Given the description of an element on the screen output the (x, y) to click on. 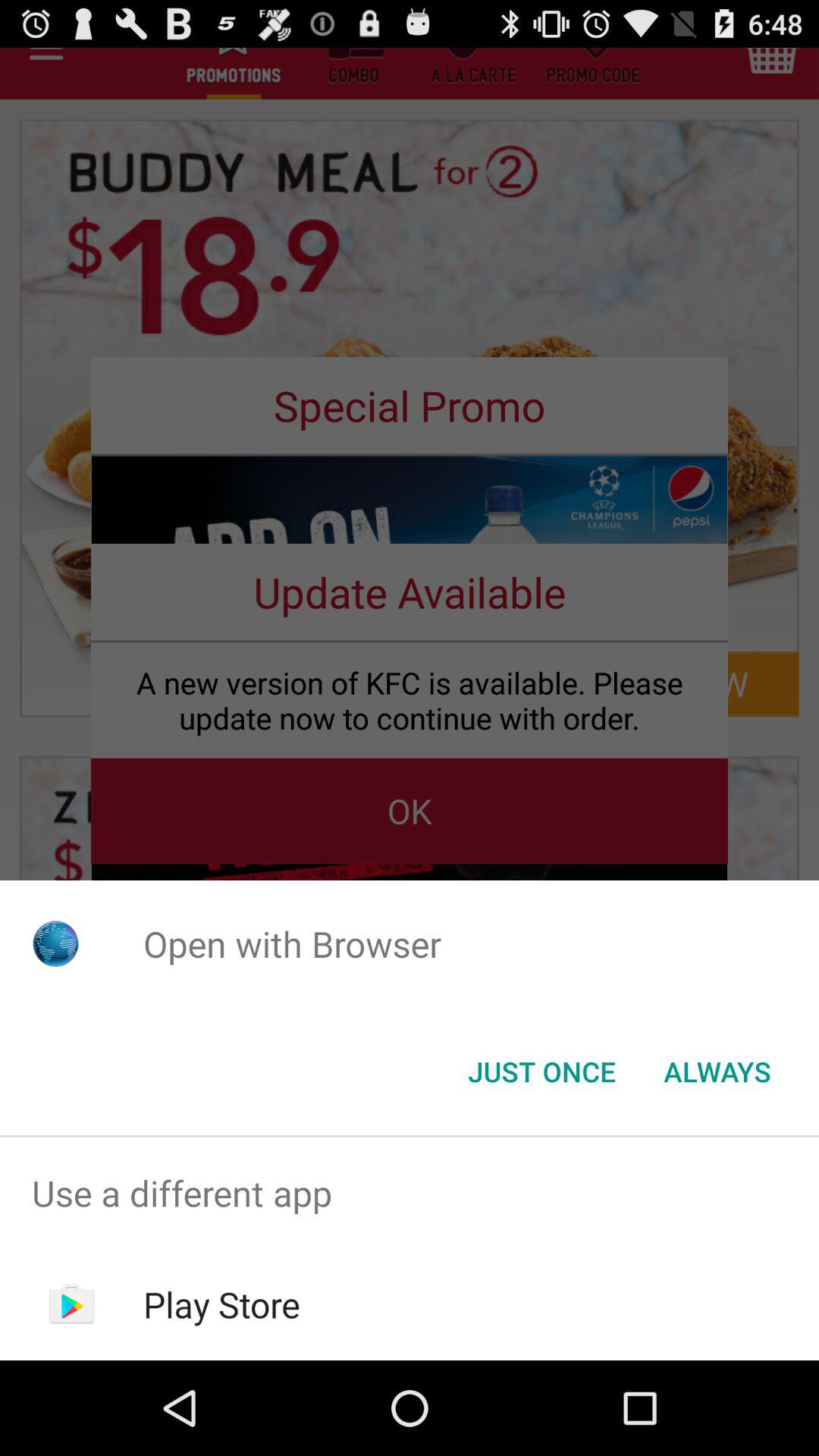
choose the item below open with browser (717, 1071)
